Given the description of an element on the screen output the (x, y) to click on. 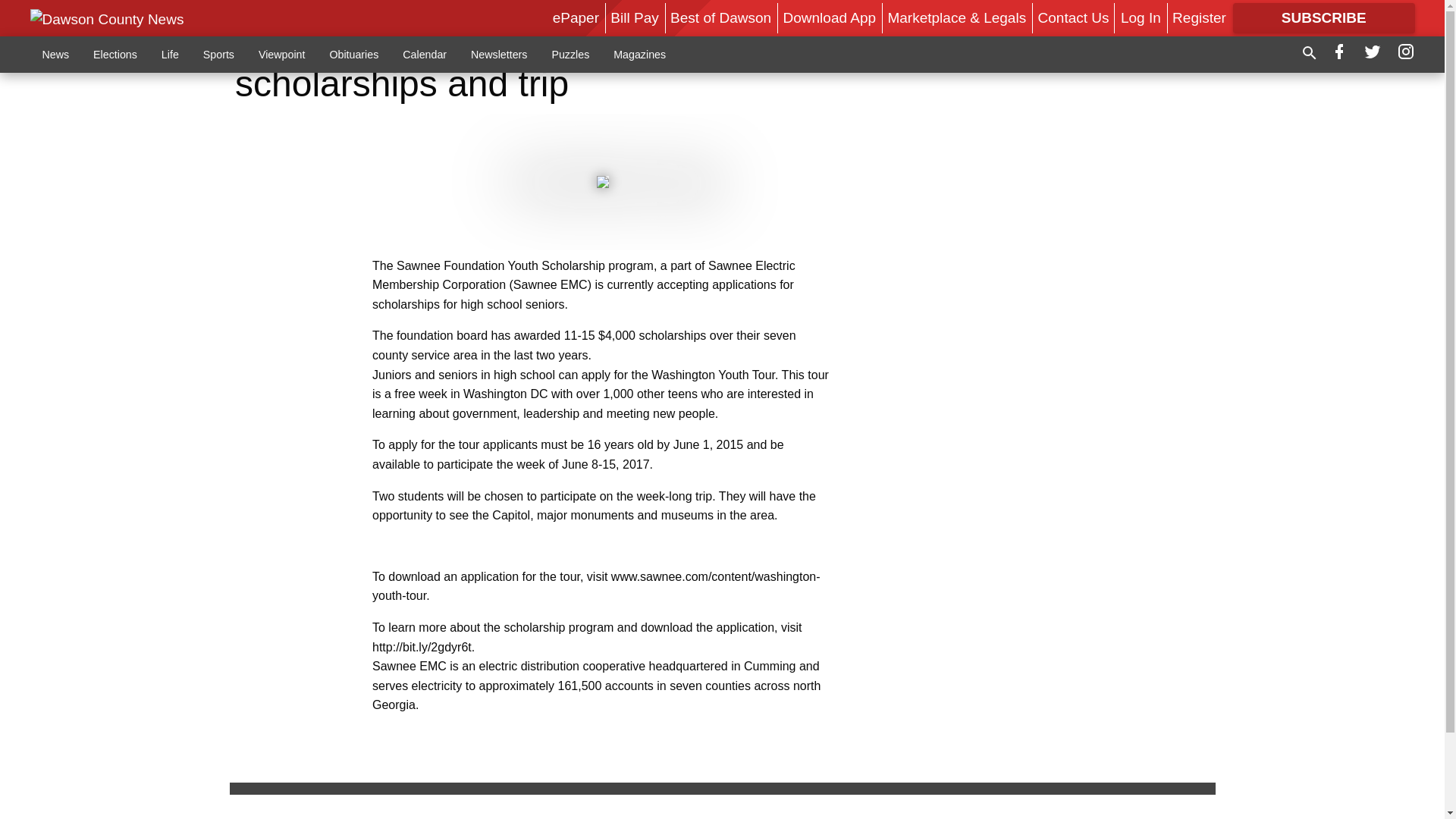
Contact Us (1073, 17)
ePaper (575, 17)
Download App (829, 17)
Log In (1140, 17)
SUBSCRIBE (1324, 18)
Bill Pay (634, 17)
Register (1198, 17)
Best of Dawson (720, 17)
